Given the description of an element on the screen output the (x, y) to click on. 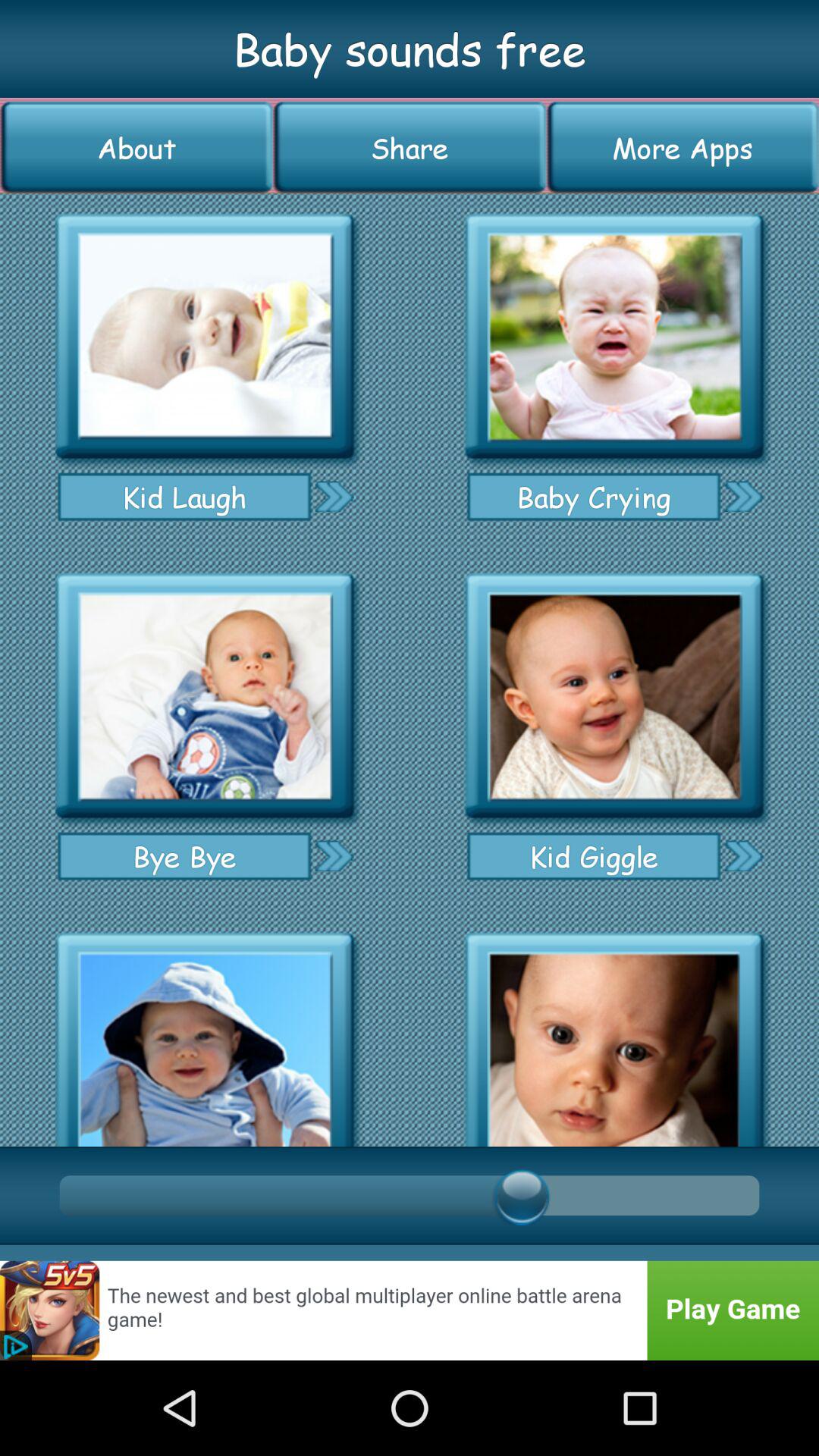
bye bye baby sounds (204, 696)
